Given the description of an element on the screen output the (x, y) to click on. 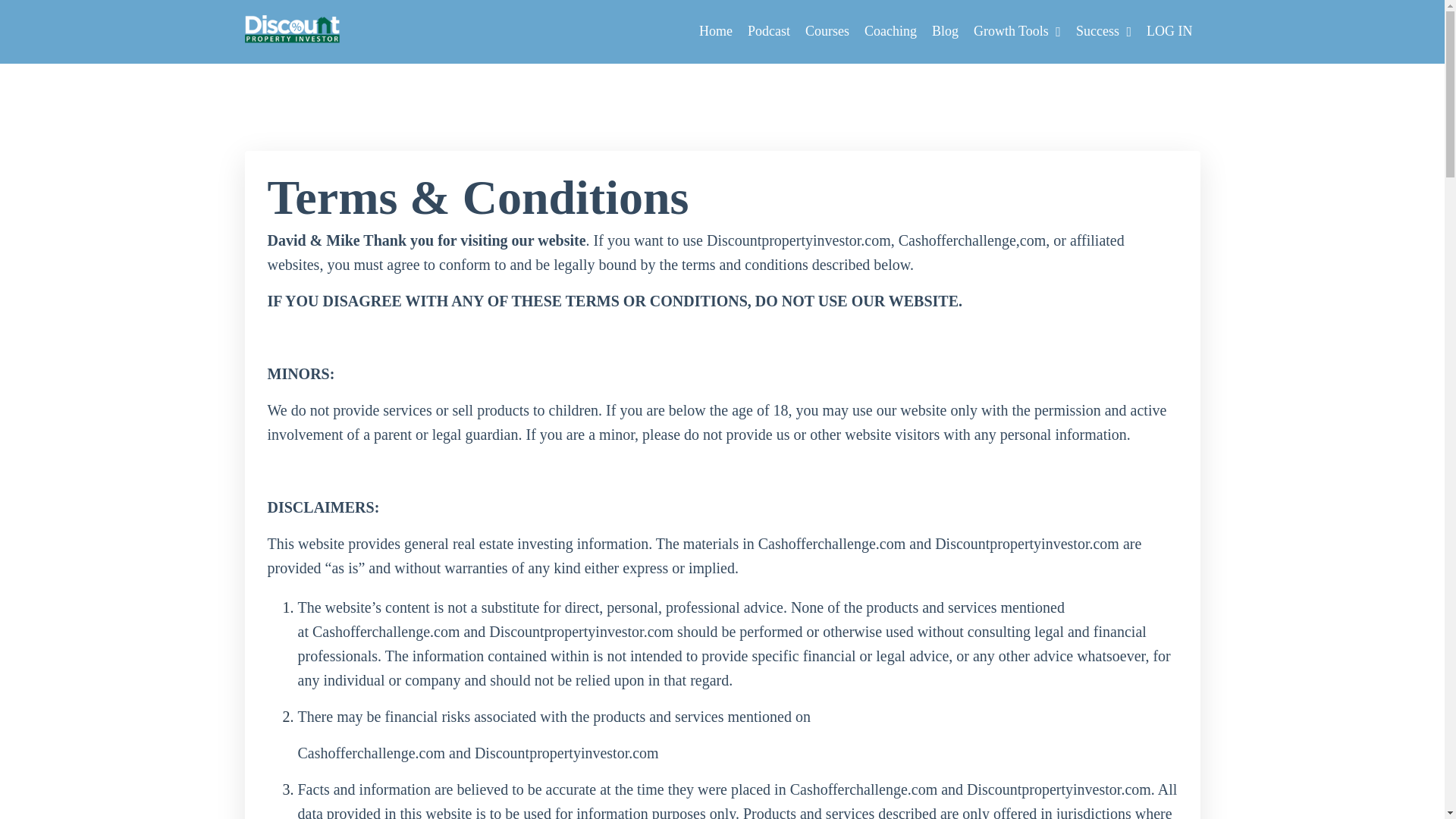
Courses (826, 31)
Growth Tools (1017, 31)
LOG IN (1169, 30)
Coaching (890, 31)
Home (715, 31)
Blog (944, 31)
Success (1103, 31)
Podcast (769, 31)
